Given the description of an element on the screen output the (x, y) to click on. 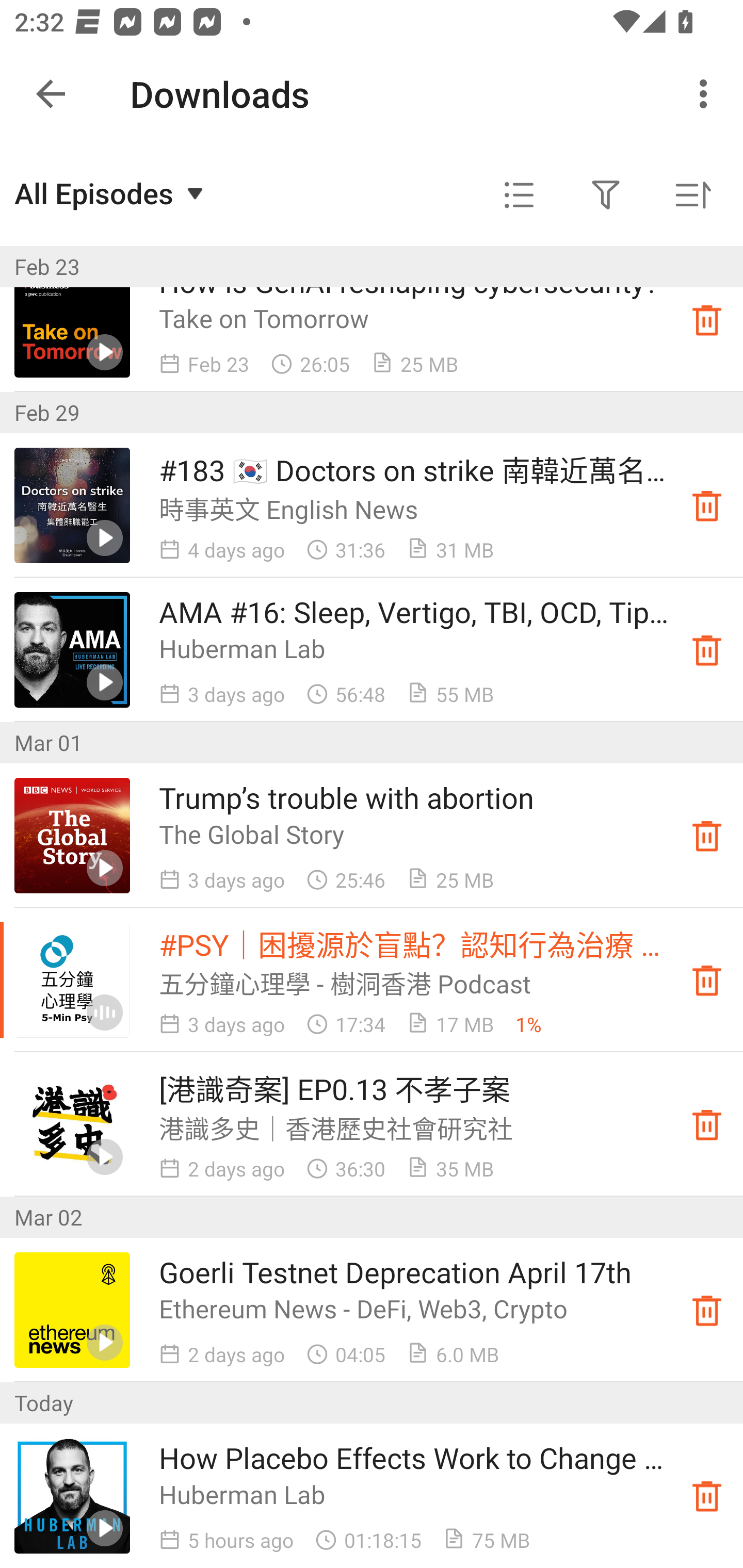
Navigate up (50, 93)
More options (706, 93)
All Episodes (111, 192)
 (518, 195)
 (605, 195)
 Sorted by oldest first (692, 195)
Downloaded (706, 319)
Downloaded (706, 505)
Downloaded (706, 649)
Downloaded (706, 835)
Downloaded (706, 979)
Downloaded (706, 1124)
Downloaded (706, 1309)
Downloaded (706, 1495)
